Given the description of an element on the screen output the (x, y) to click on. 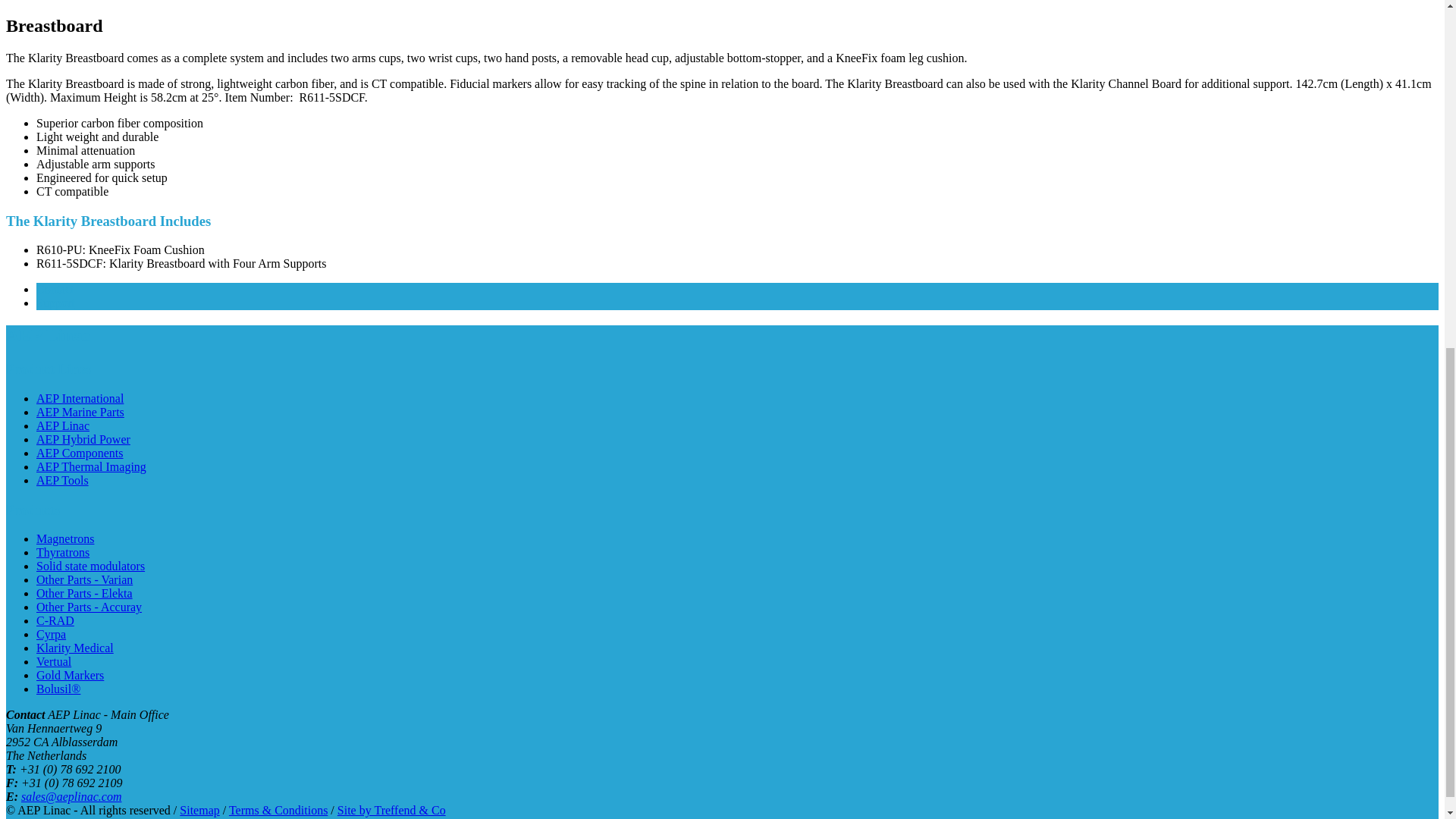
Support (55, 302)
AEP International (79, 398)
Contact (55, 288)
